Given the description of an element on the screen output the (x, y) to click on. 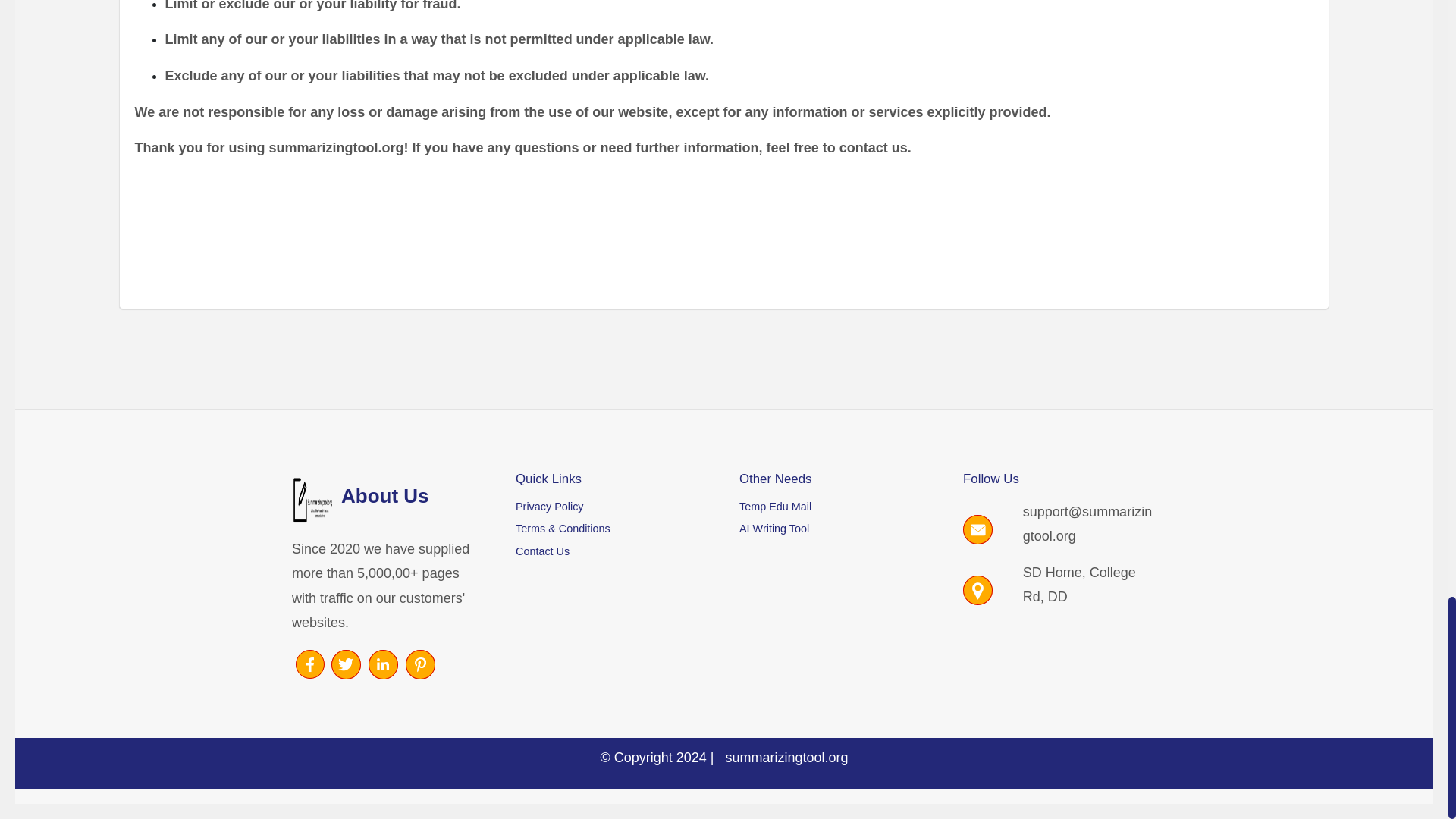
Privacy Policy (612, 506)
summarizingtool.org (786, 757)
Temp Edu Mail (836, 506)
About Us (388, 500)
Contact Us (612, 551)
AI Writing Tool (836, 528)
